Given the description of an element on the screen output the (x, y) to click on. 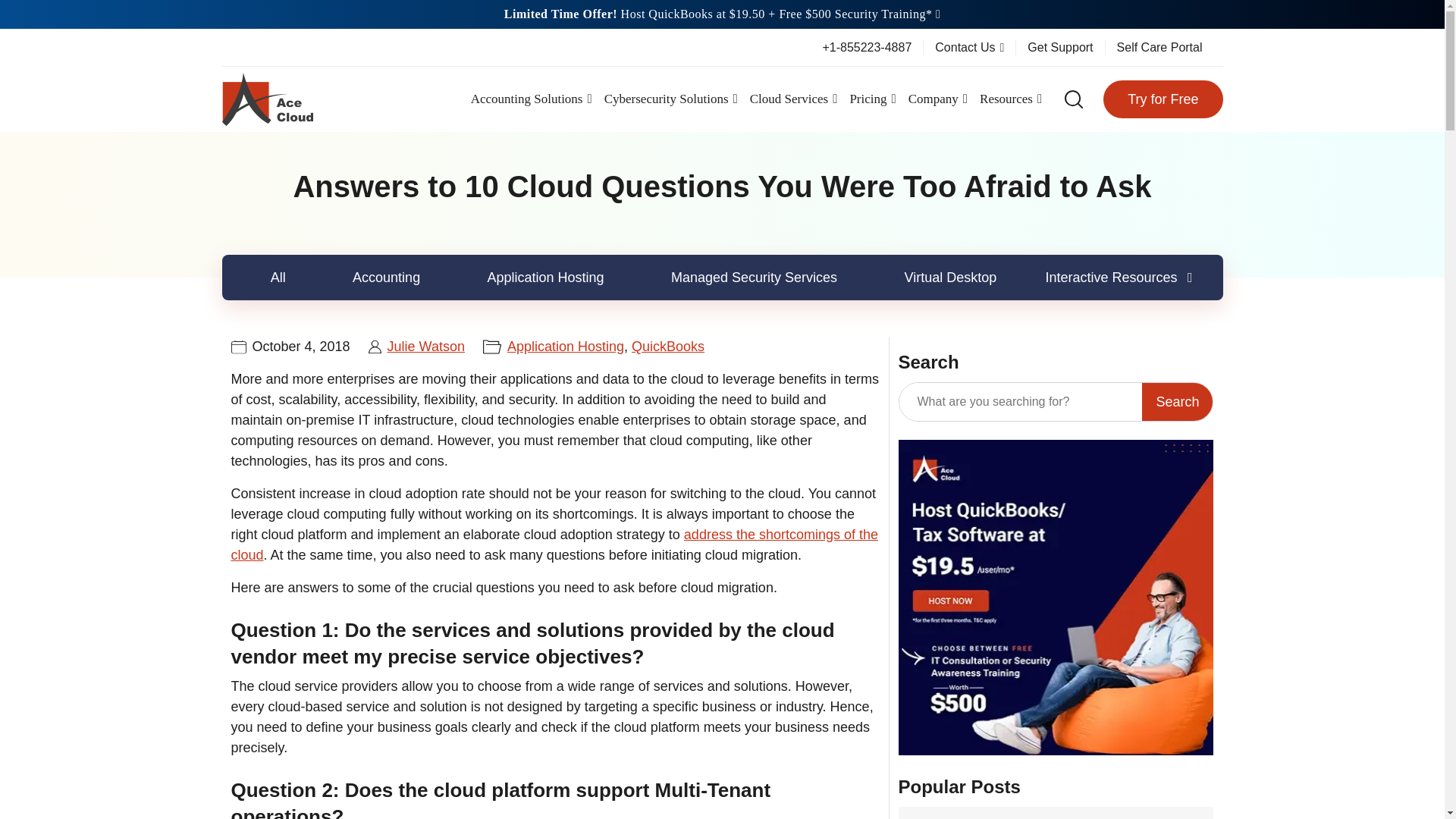
Accounting Solutions (531, 99)
Self Care Portal (1159, 47)
Search (1176, 401)
Get Support (1059, 47)
Contact Us (968, 47)
